Given the description of an element on the screen output the (x, y) to click on. 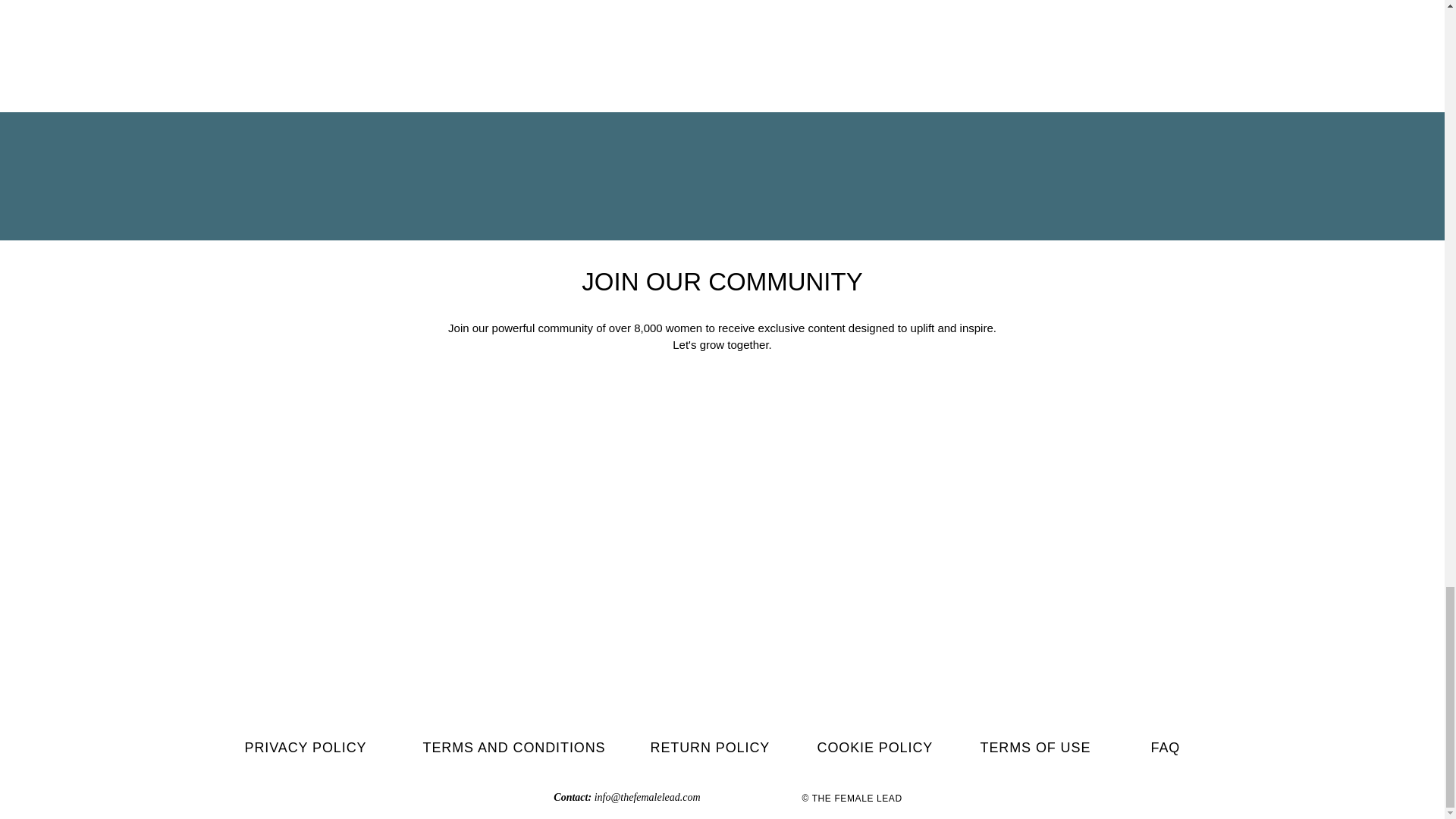
TERMS AND CONDITIONS (514, 747)
RETURN POLICY (710, 747)
TERMS OF USE (1034, 747)
PRIVACY POLICY  (307, 747)
COOKIE POLICY (874, 747)
FAQ (1165, 747)
